Given the description of an element on the screen output the (x, y) to click on. 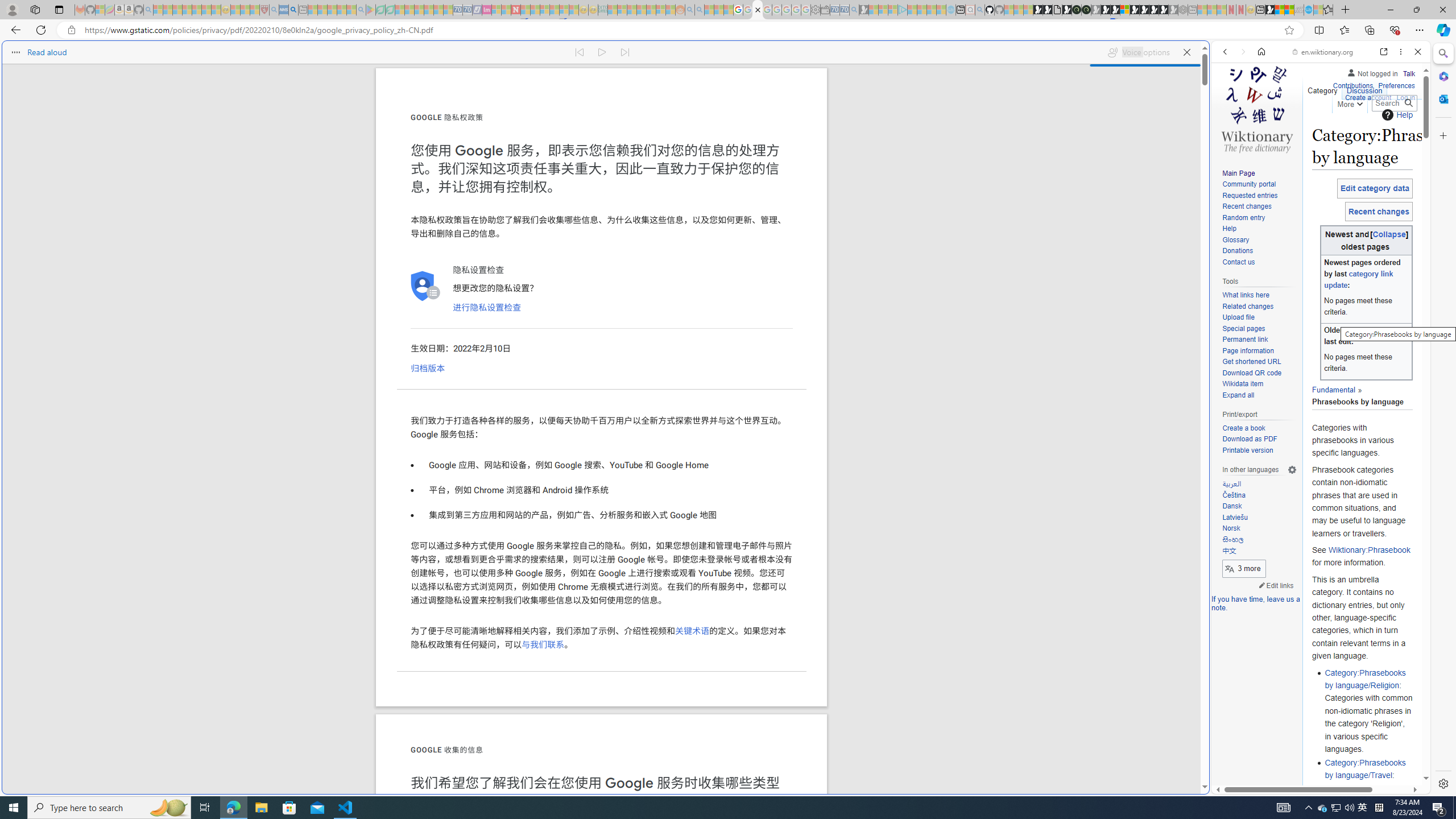
Upload file (1238, 317)
Go (1408, 102)
Search Wiktionary (1393, 103)
Norsk (1259, 528)
